Given the description of an element on the screen output the (x, y) to click on. 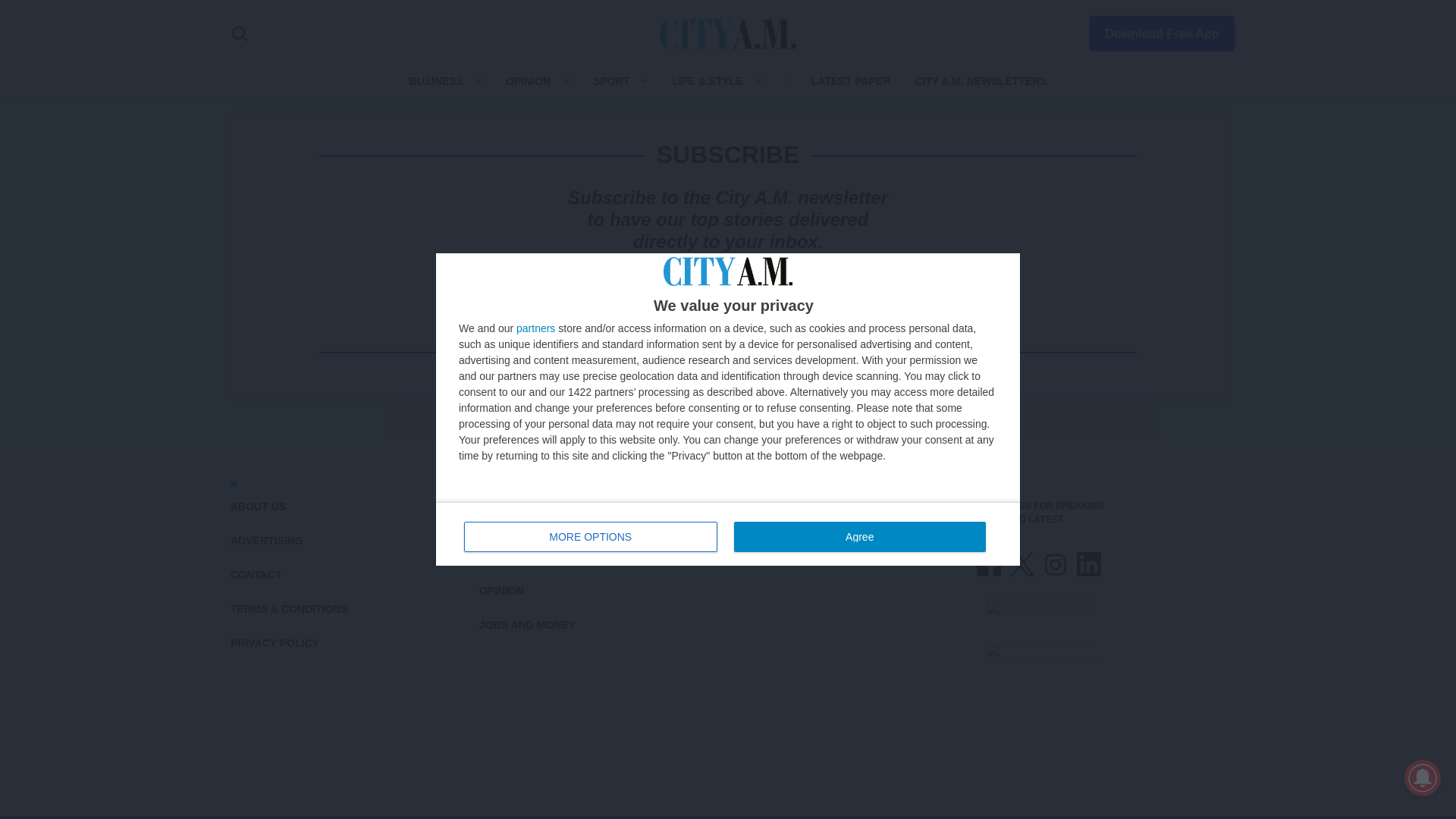
LINKEDIN (1088, 564)
X (1021, 564)
FACEBOOK (988, 564)
INSTAGRAM (1055, 564)
